Given the description of an element on the screen output the (x, y) to click on. 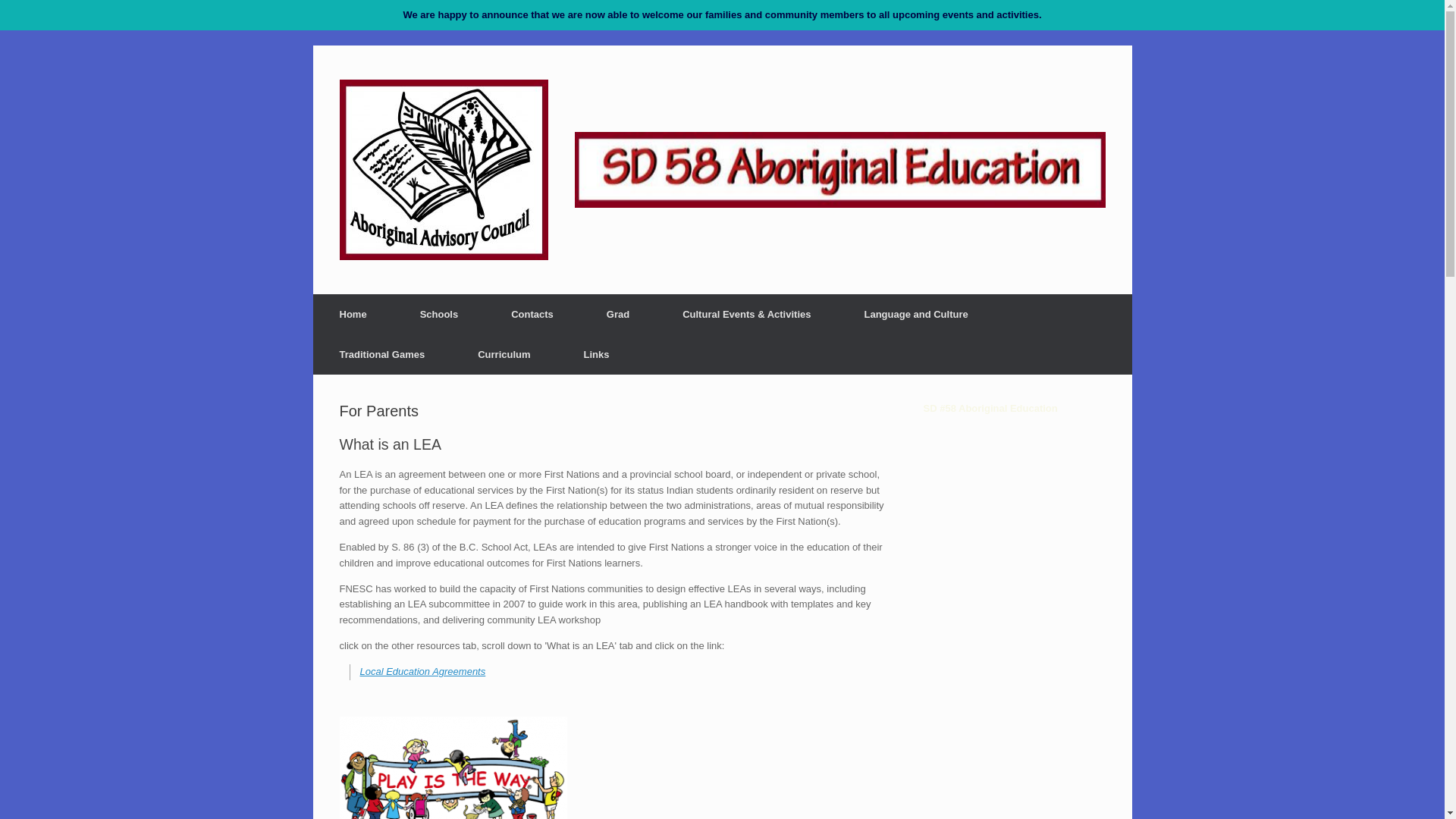
Schools (438, 314)
Contacts (531, 314)
Home (353, 314)
Language and Culture (915, 314)
Links (596, 353)
Grad (617, 314)
Traditional Games (382, 353)
Curriculum (503, 353)
